Given the description of an element on the screen output the (x, y) to click on. 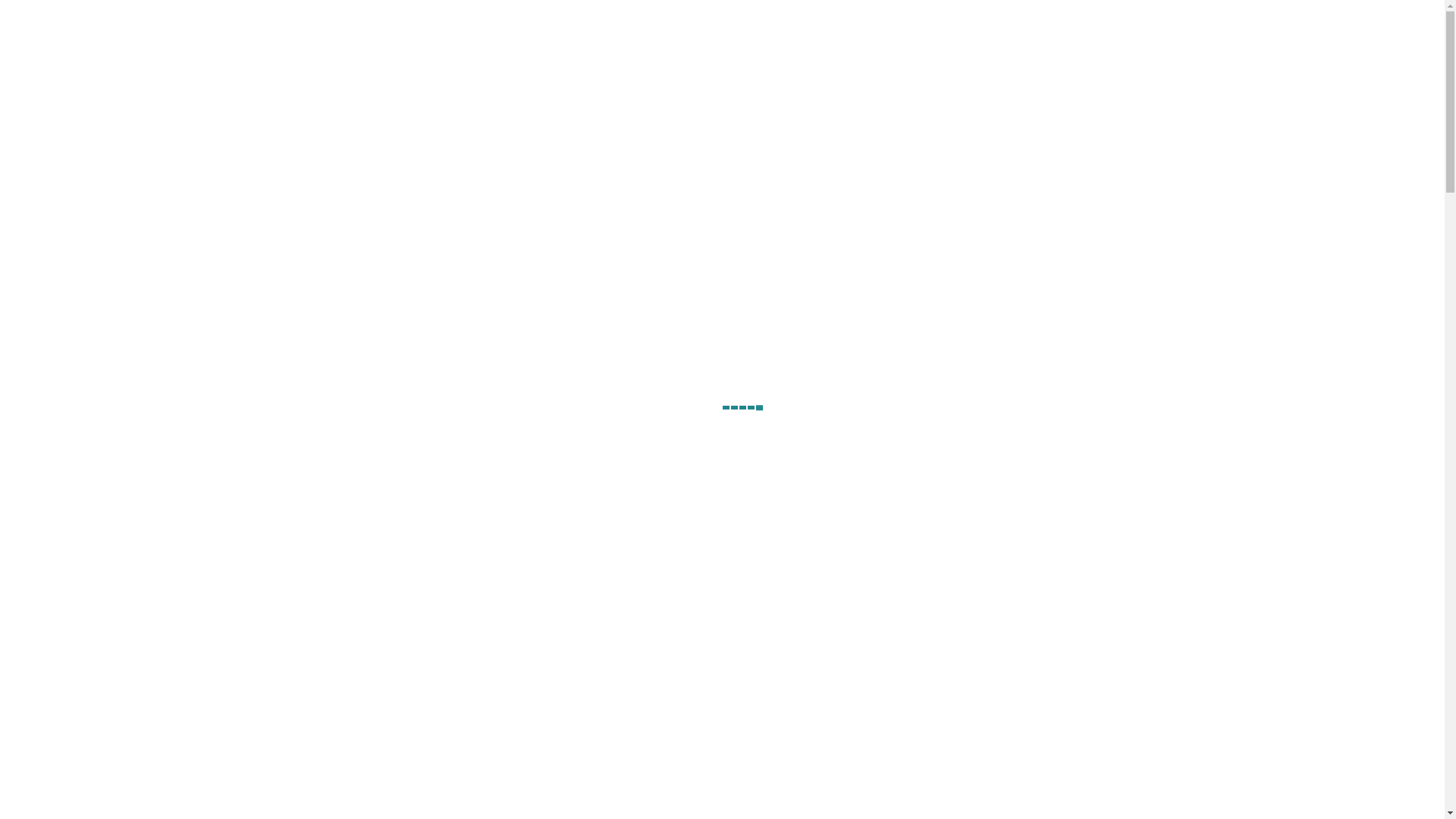
ContactUs Element type: text (1154, 25)
Home Element type: text (917, 25)
Contact Us Element type: text (721, 212)
locations Element type: text (1090, 25)
About Us Element type: text (973, 25)
Service Element type: text (1032, 25)
Nova Accountants Element type: text (373, 137)
